Given the description of an element on the screen output the (x, y) to click on. 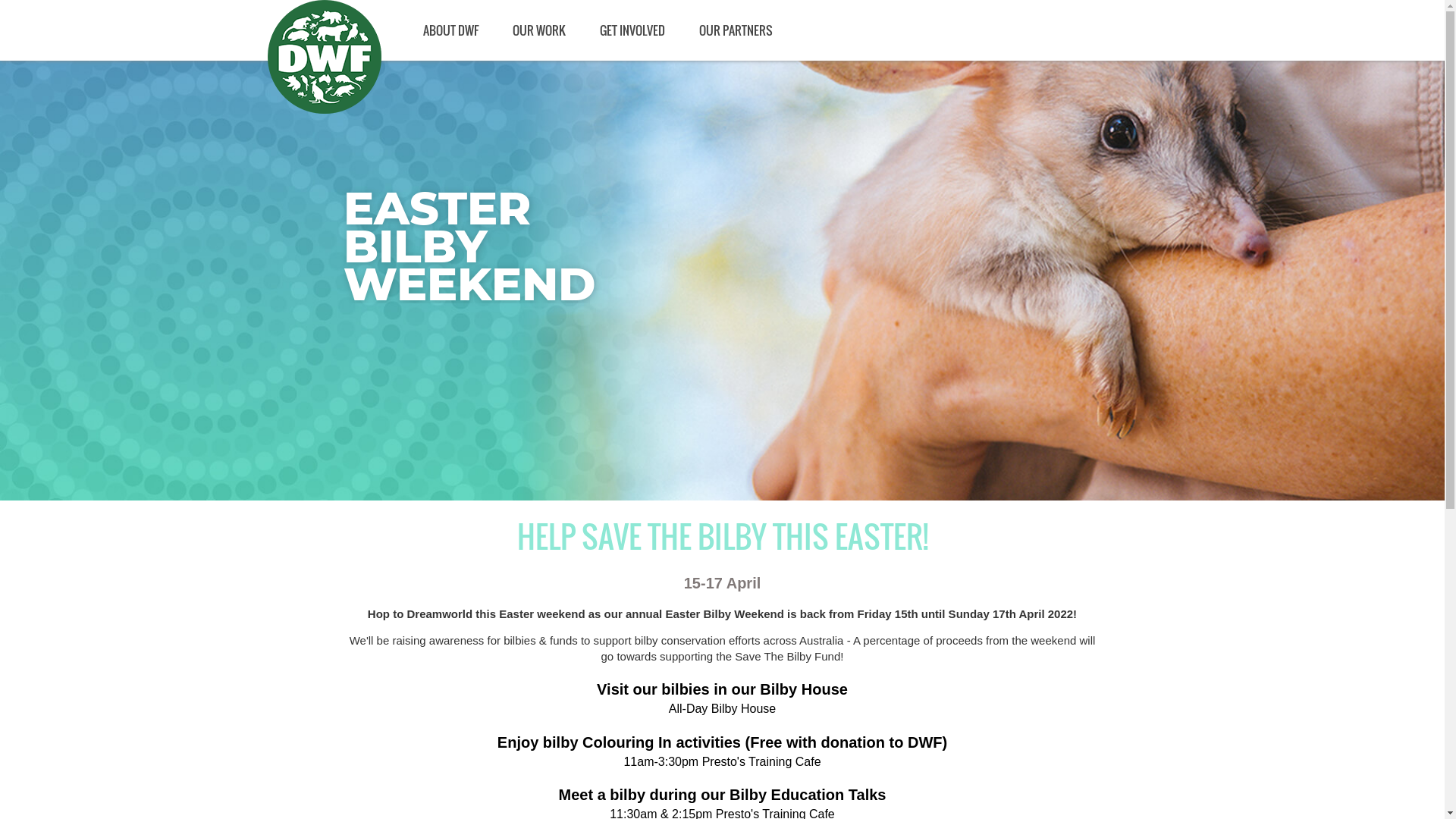
OUR WORK Element type: text (538, 30)
OUR PARTNERS Element type: text (735, 30)
GET INVOLVED Element type: text (632, 30)
DONATE NOW Element type: text (1410, 26)
ABOUT DWF Element type: text (450, 30)
